Given the description of an element on the screen output the (x, y) to click on. 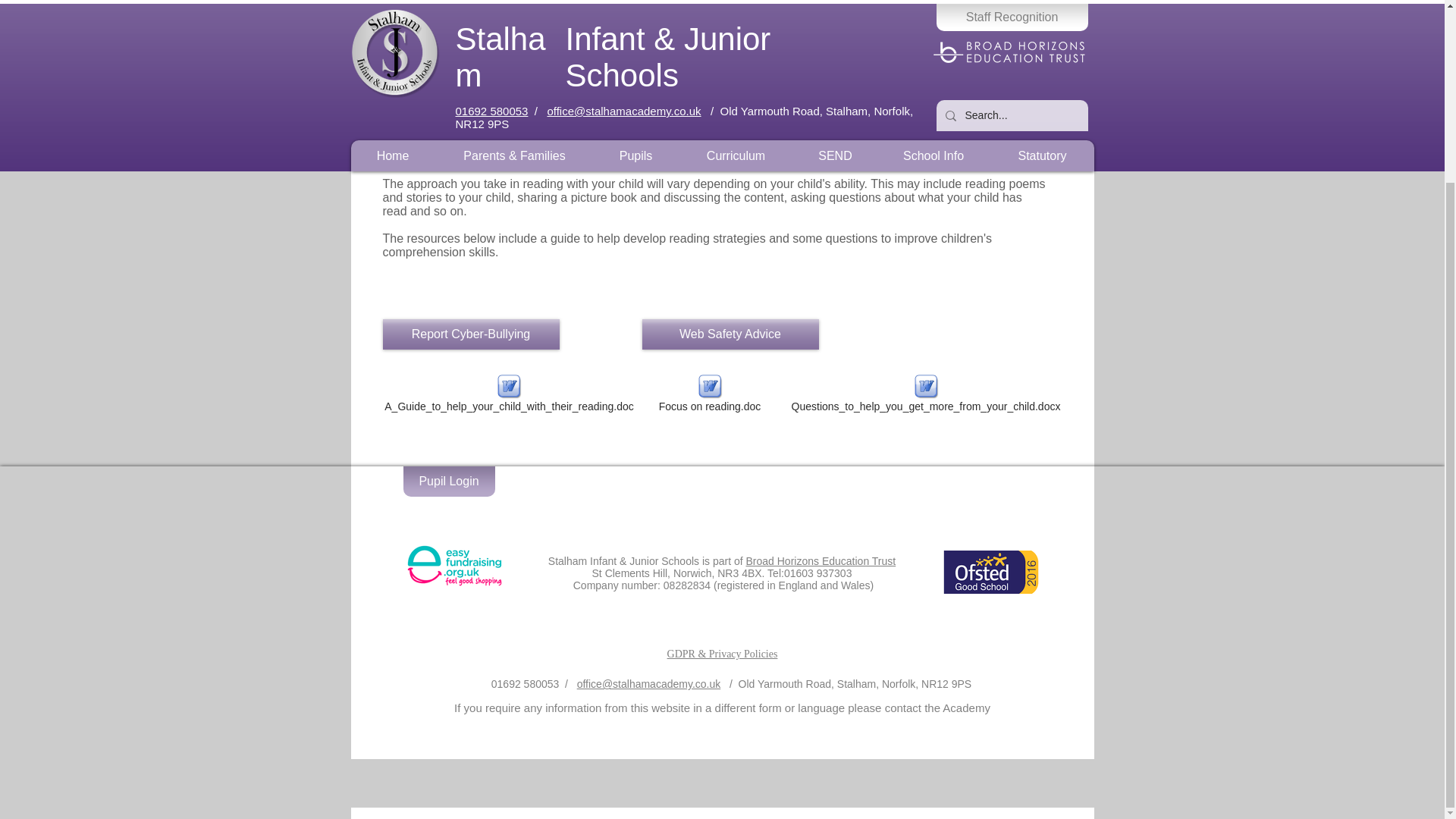
Focus on reading.doc (708, 395)
